Given the description of an element on the screen output the (x, y) to click on. 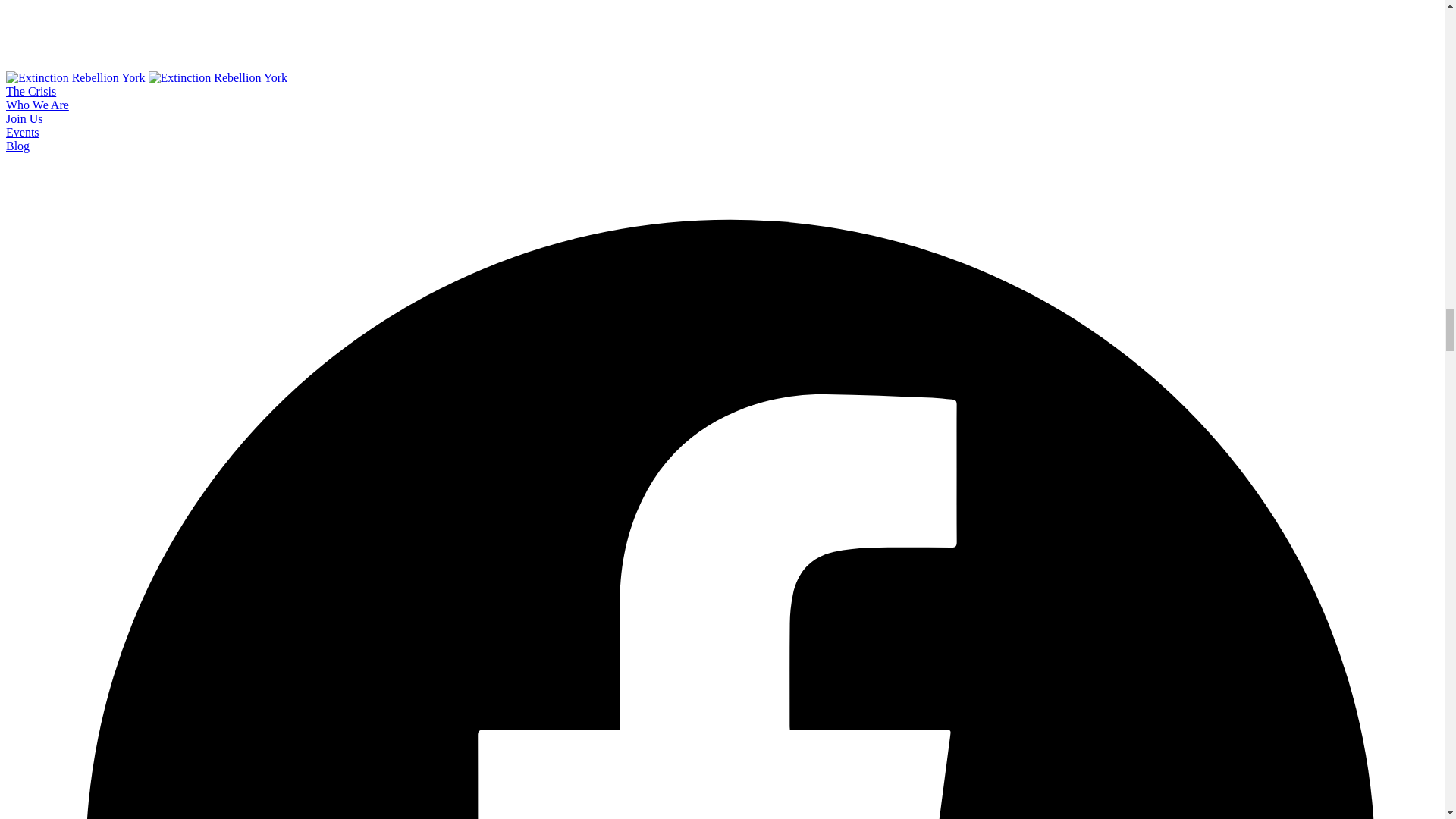
The Crisis (30, 91)
Join Us (23, 118)
Who We Are (36, 104)
Extinction Rebellion York (145, 77)
Events (22, 132)
Blog (17, 145)
